Given the description of an element on the screen output the (x, y) to click on. 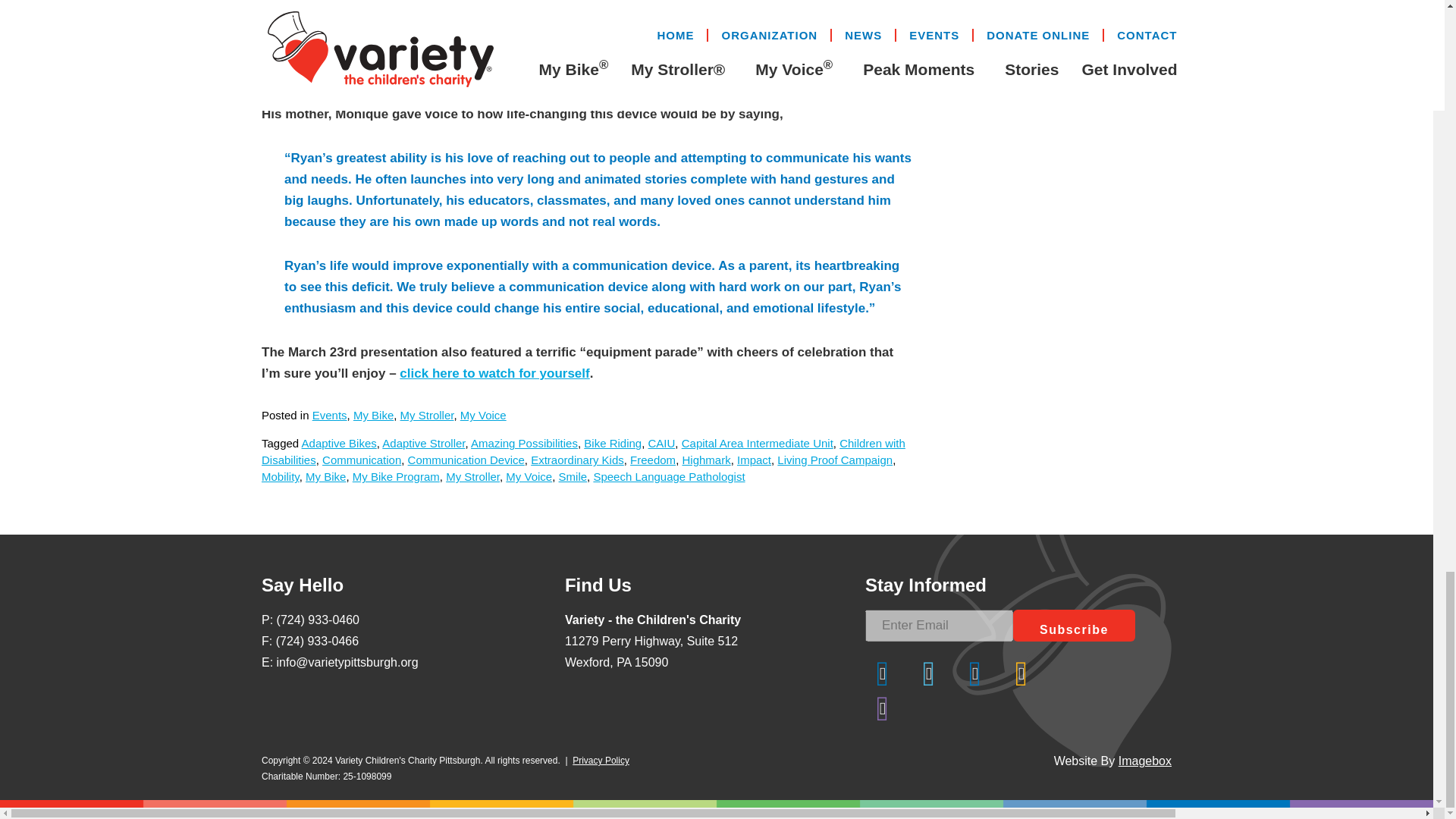
YouTube (881, 708)
Instagram (1021, 673)
Facebook (881, 673)
Twitter (928, 673)
LinkedIn (975, 673)
Subscribe (1074, 625)
